Given the description of an element on the screen output the (x, y) to click on. 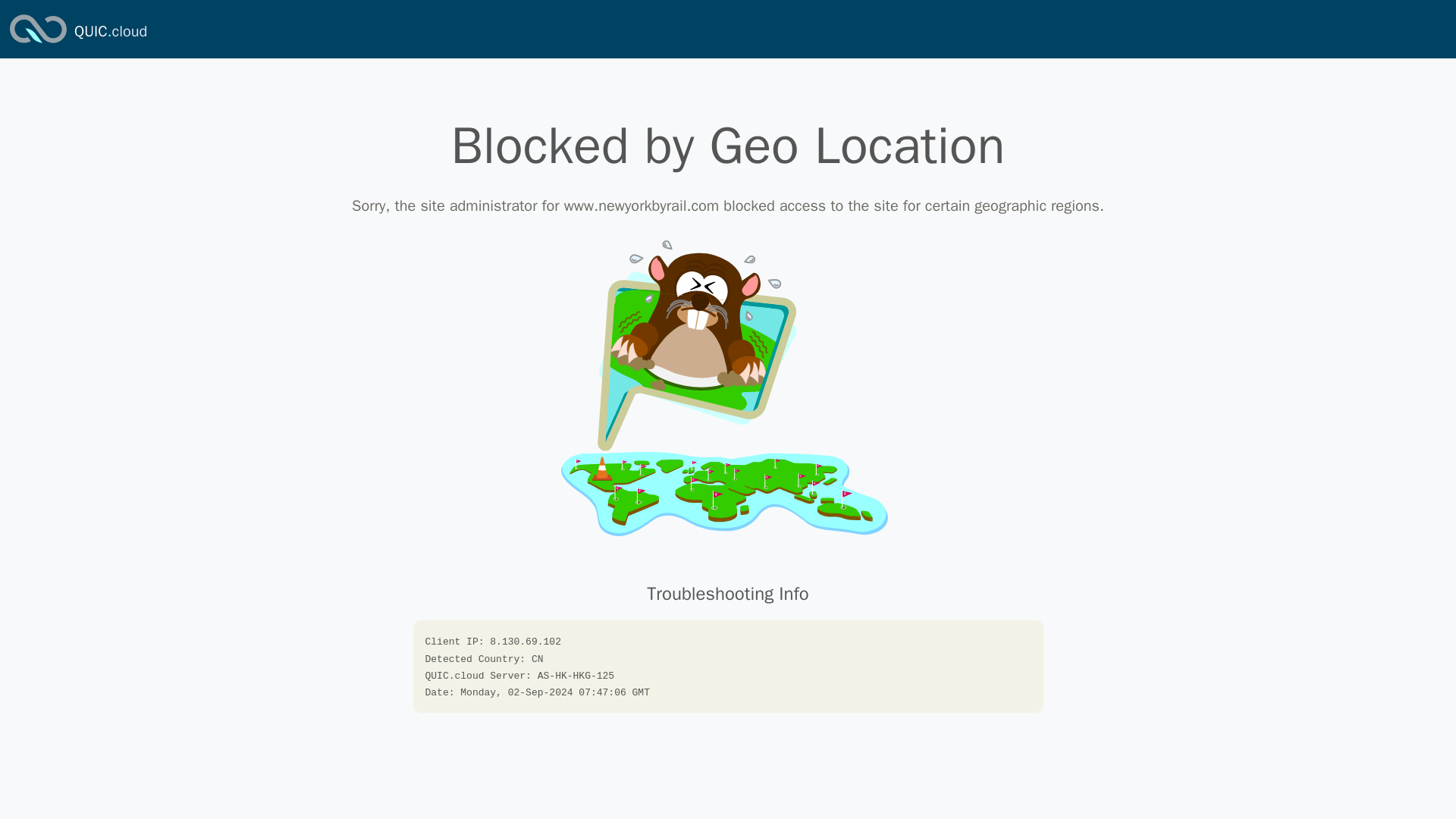
QUIC.cloud (110, 31)
QUIC.cloud (37, 43)
QUIC.cloud (110, 31)
